Given the description of an element on the screen output the (x, y) to click on. 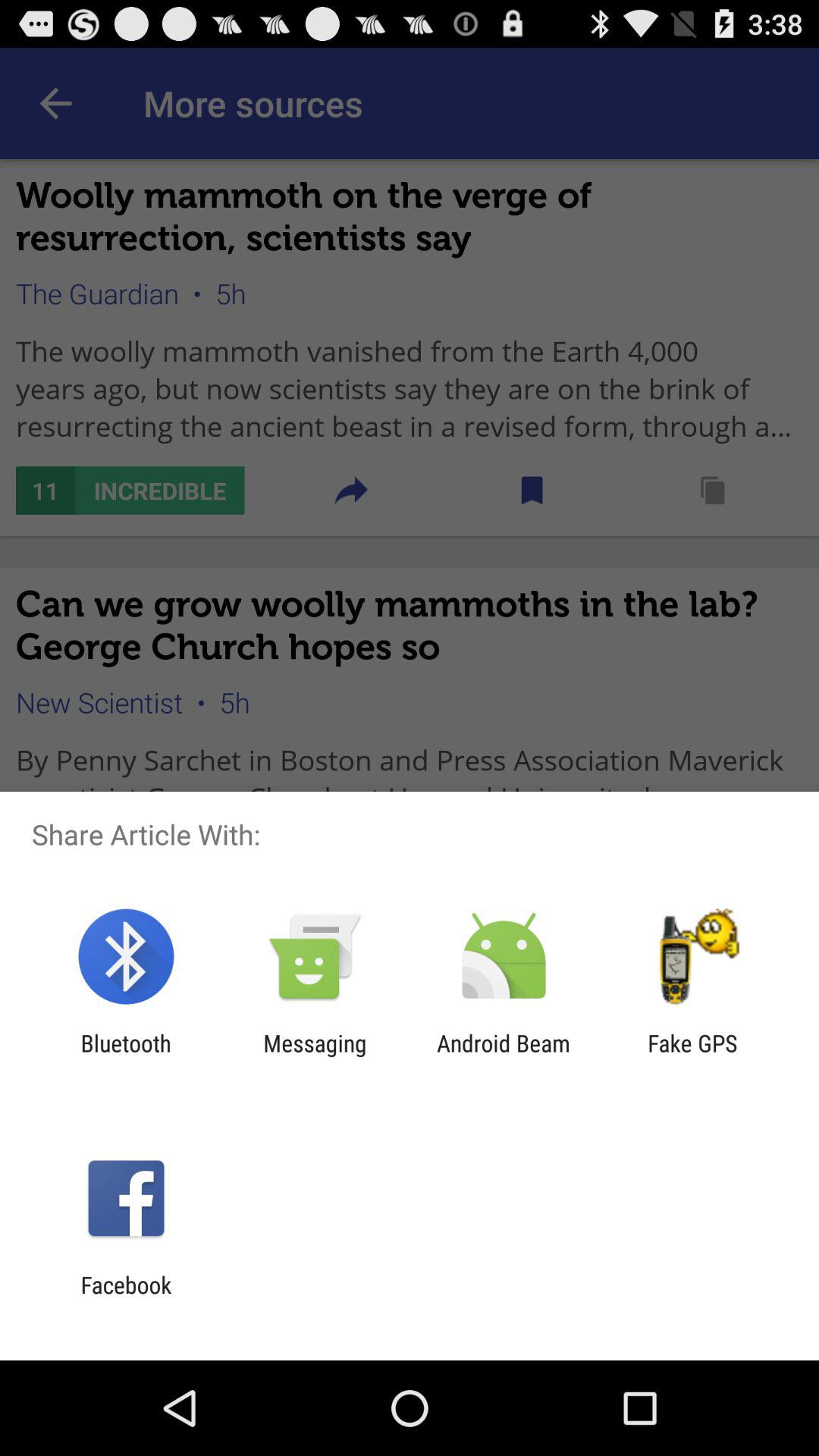
click item to the left of the android beam app (314, 1056)
